Given the description of an element on the screen output the (x, y) to click on. 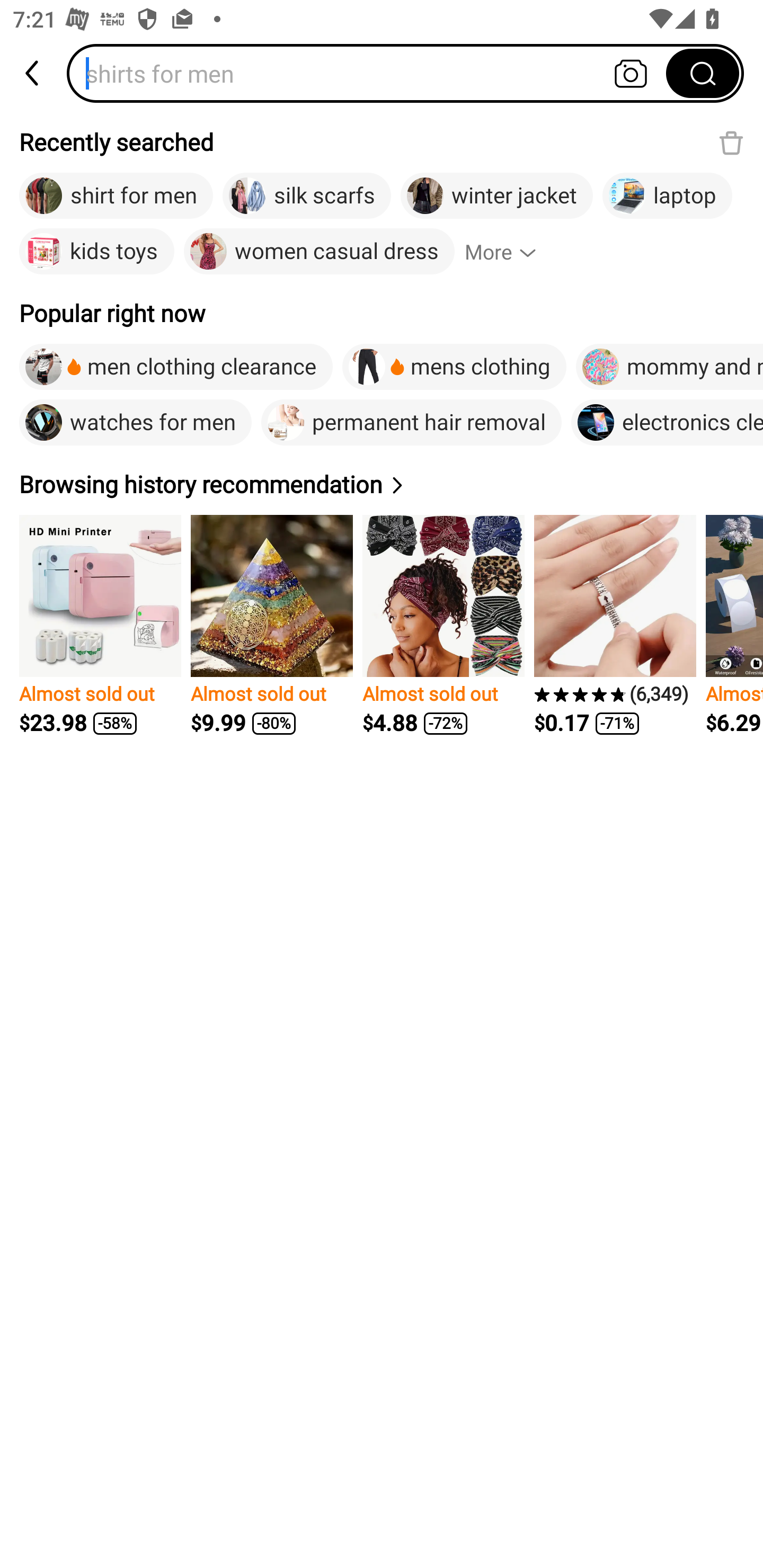
back (33, 72)
shirts for men (372, 73)
Search by photo (630, 73)
Delete recent search (731, 142)
shirt for men (115, 195)
silk scarfs (306, 195)
winter jacket (496, 195)
laptop (667, 195)
kids toys (96, 251)
women casual dress (318, 251)
More (508, 251)
men clothing clearance (175, 366)
mens clothing (454, 366)
mommy and me matching sets (669, 366)
watches for men (135, 422)
permanent hair removal (410, 422)
electronics clearance (667, 422)
Browsing history recommendation (213, 484)
Almost sold out $23.98 -58% (100, 625)
Almost sold out $9.99 -80% (271, 625)
Almost sold out $4.88 -72% (443, 625)
(6,349) $0.17 -71% (614, 625)
